Given the description of an element on the screen output the (x, y) to click on. 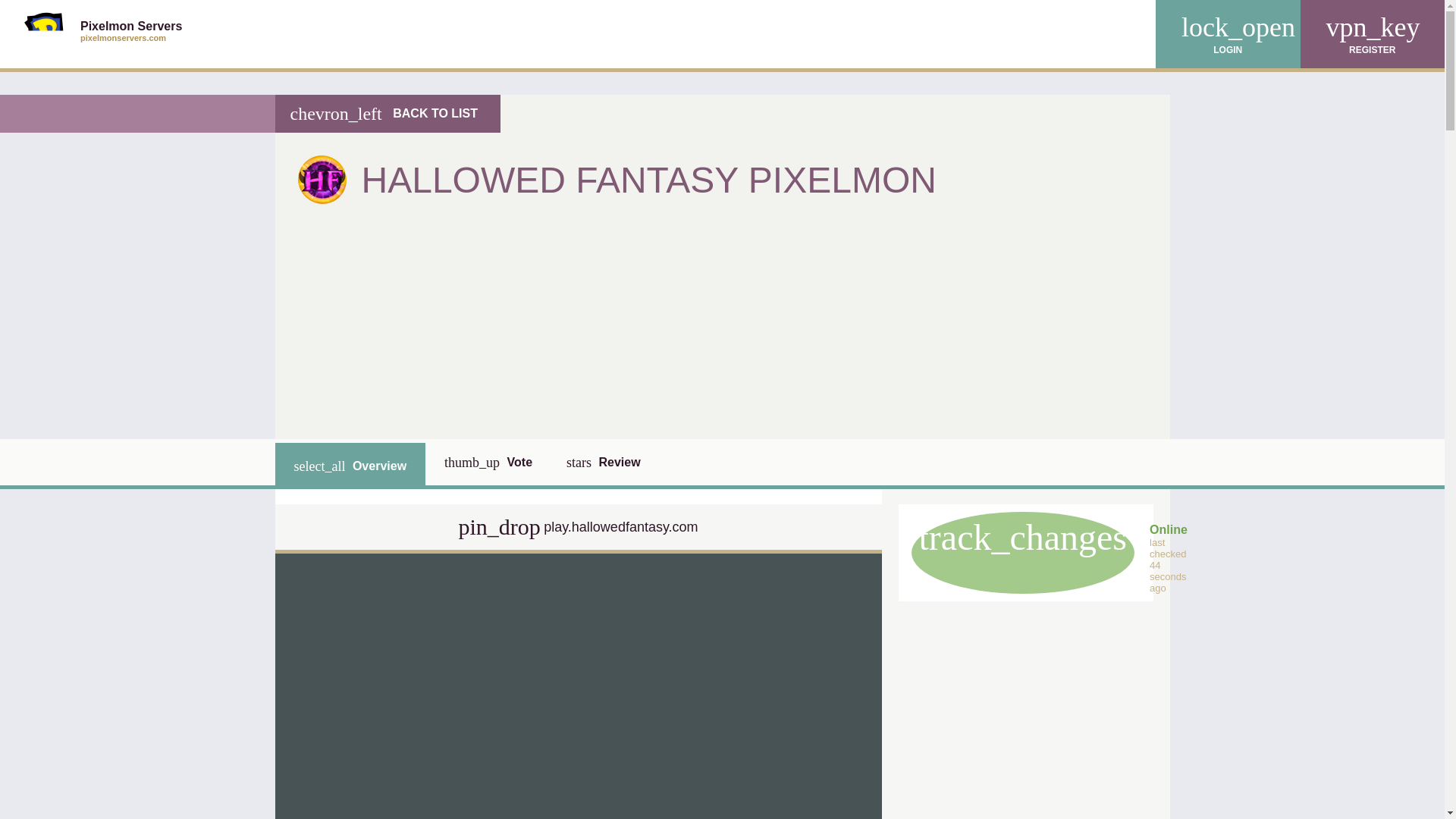
Review (603, 461)
stars Review (603, 461)
Vote (101, 33)
Overview (488, 461)
